Given the description of an element on the screen output the (x, y) to click on. 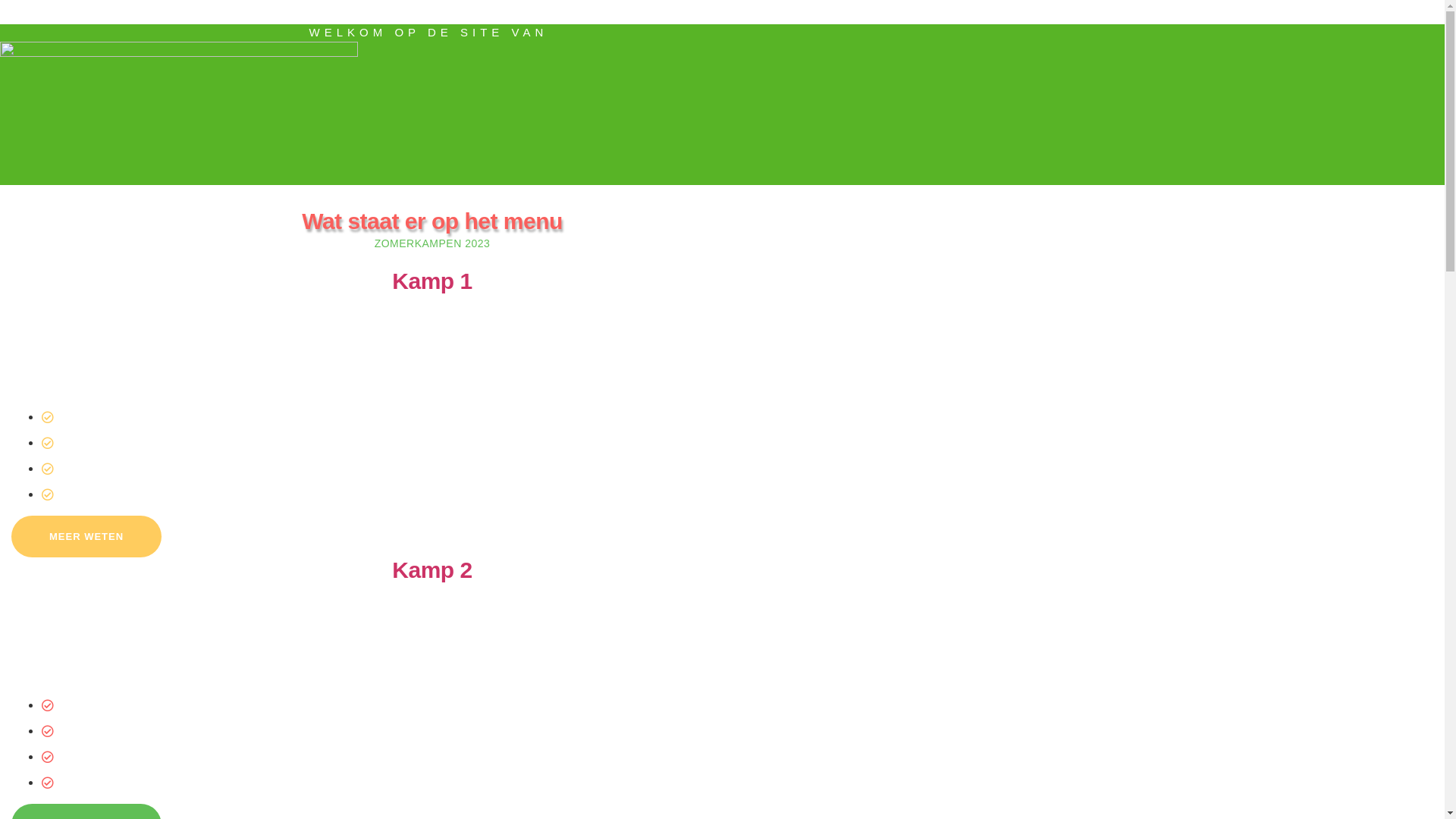
Kamp 1 Element type: text (431, 280)
Kamp 2 Element type: text (431, 569)
MEER WETEN Element type: text (86, 536)
